Given the description of an element on the screen output the (x, y) to click on. 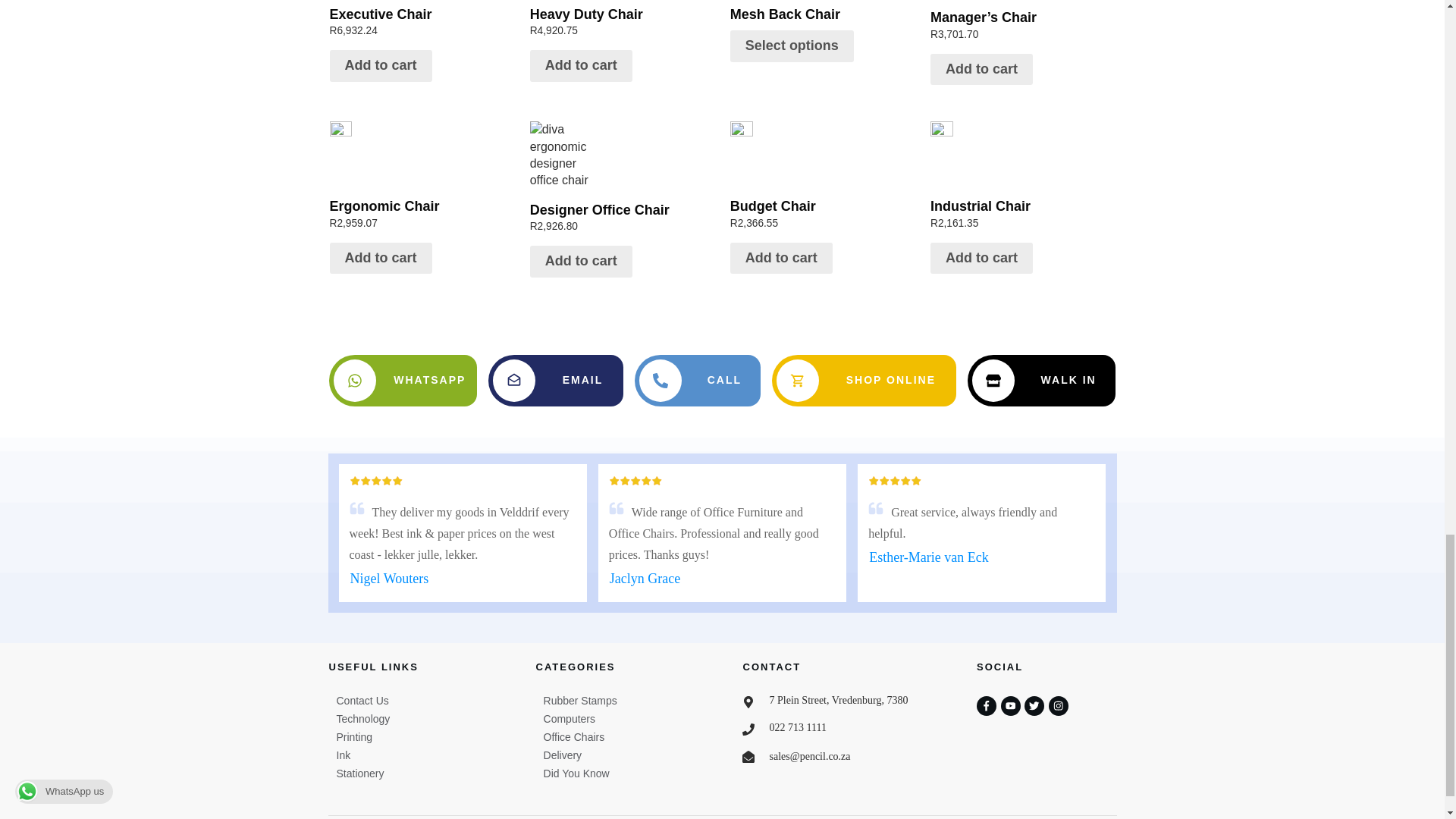
Mesh Back Chair (621, 22)
Add to cart (822, 178)
Add to cart (421, 178)
Add to cart (822, 12)
Add to cart (580, 65)
